Given the description of an element on the screen output the (x, y) to click on. 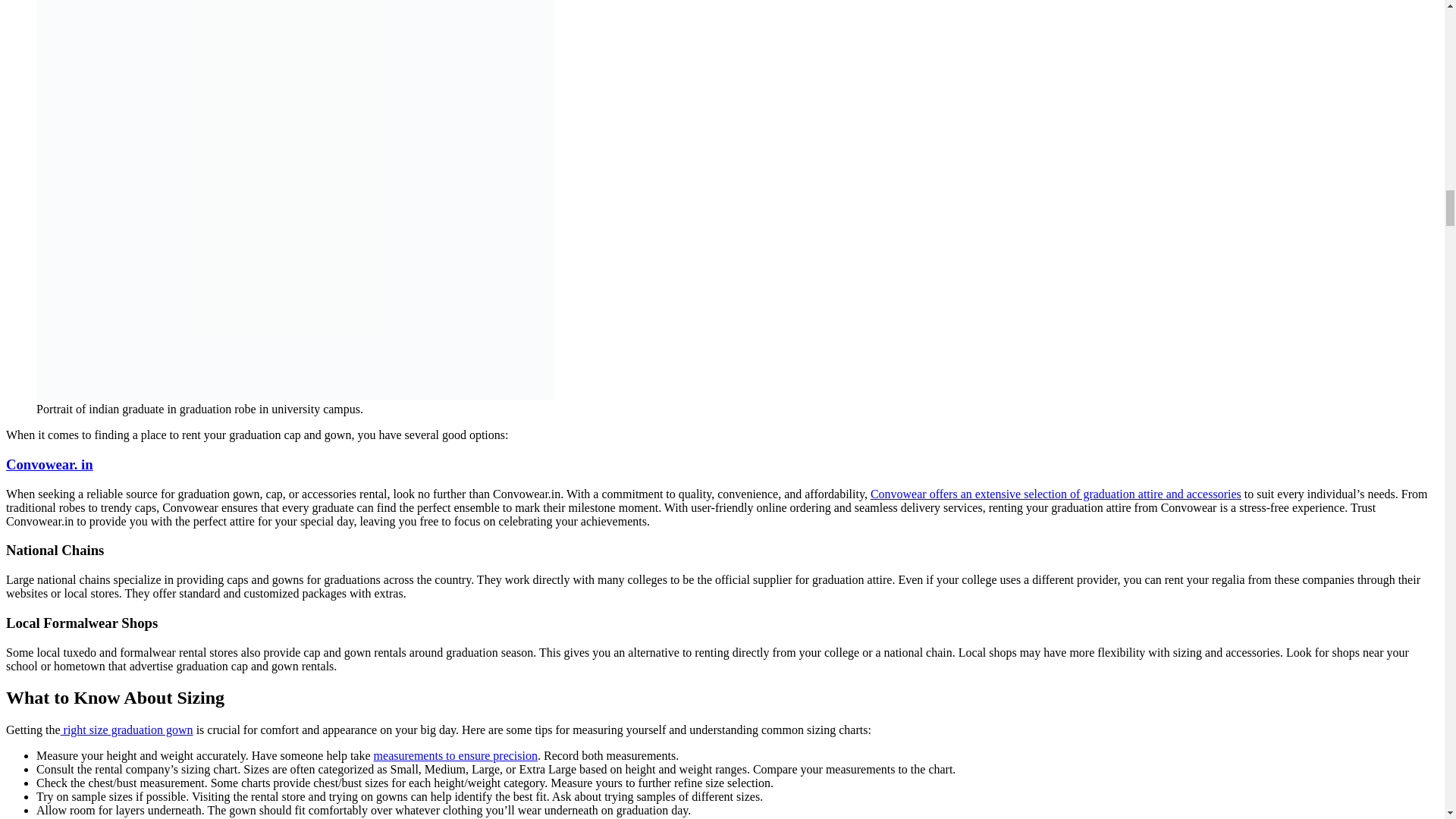
Convowear. in (49, 464)
measurements to ensure precision (455, 755)
right size graduation gown (127, 729)
